Given the description of an element on the screen output the (x, y) to click on. 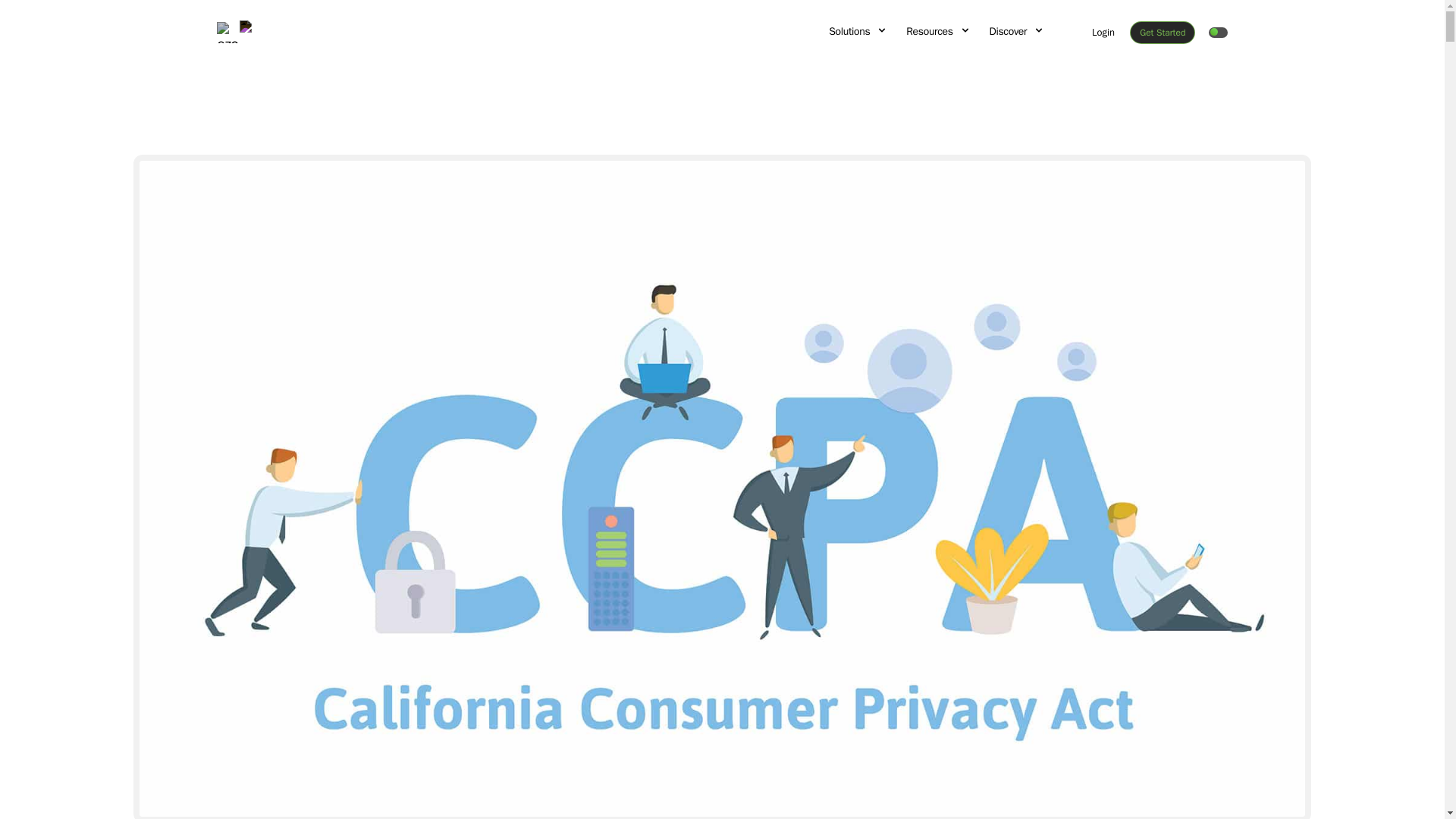
Solutions (857, 31)
Get Started (1162, 32)
Login (1103, 31)
Resources (937, 31)
Discover (1017, 31)
